Given the description of an element on the screen output the (x, y) to click on. 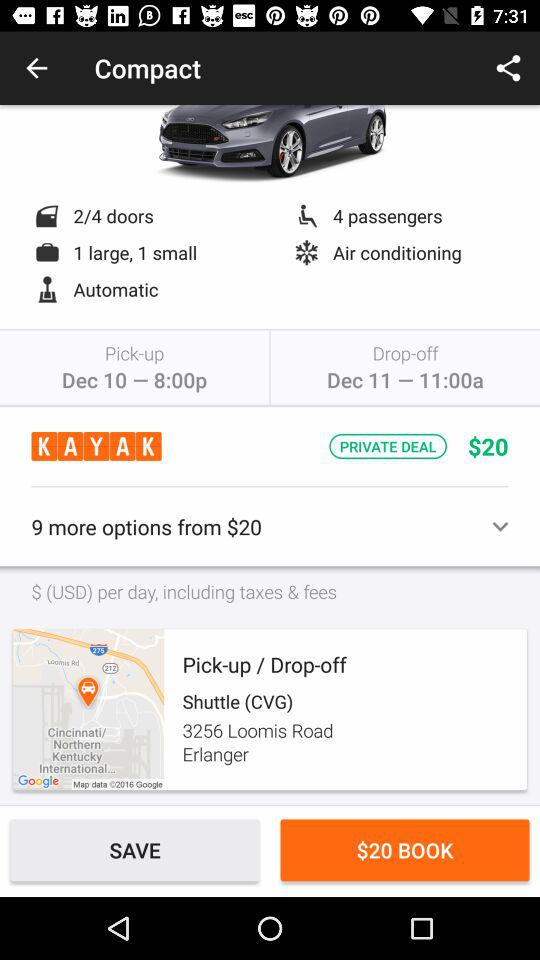
open gps (88, 709)
